Given the description of an element on the screen output the (x, y) to click on. 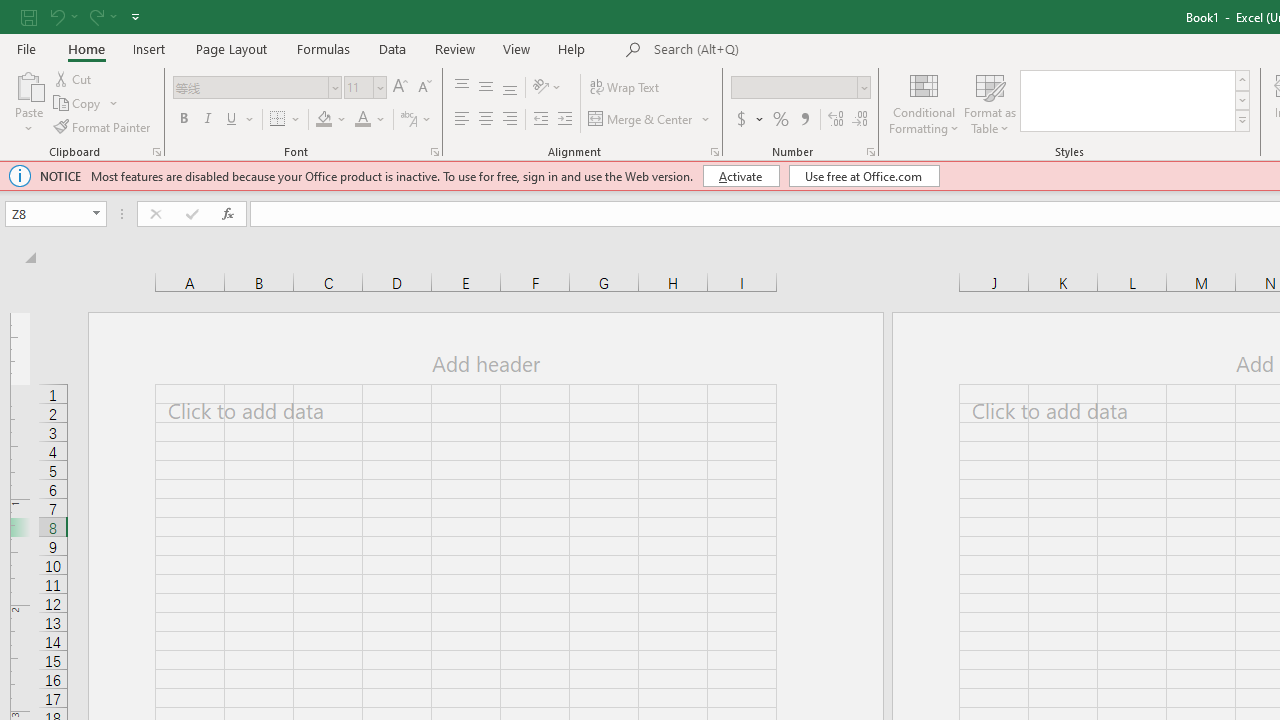
Decrease Indent (540, 119)
Underline (239, 119)
Top Align (461, 87)
Show Phonetic Field (416, 119)
